Given the description of an element on the screen output the (x, y) to click on. 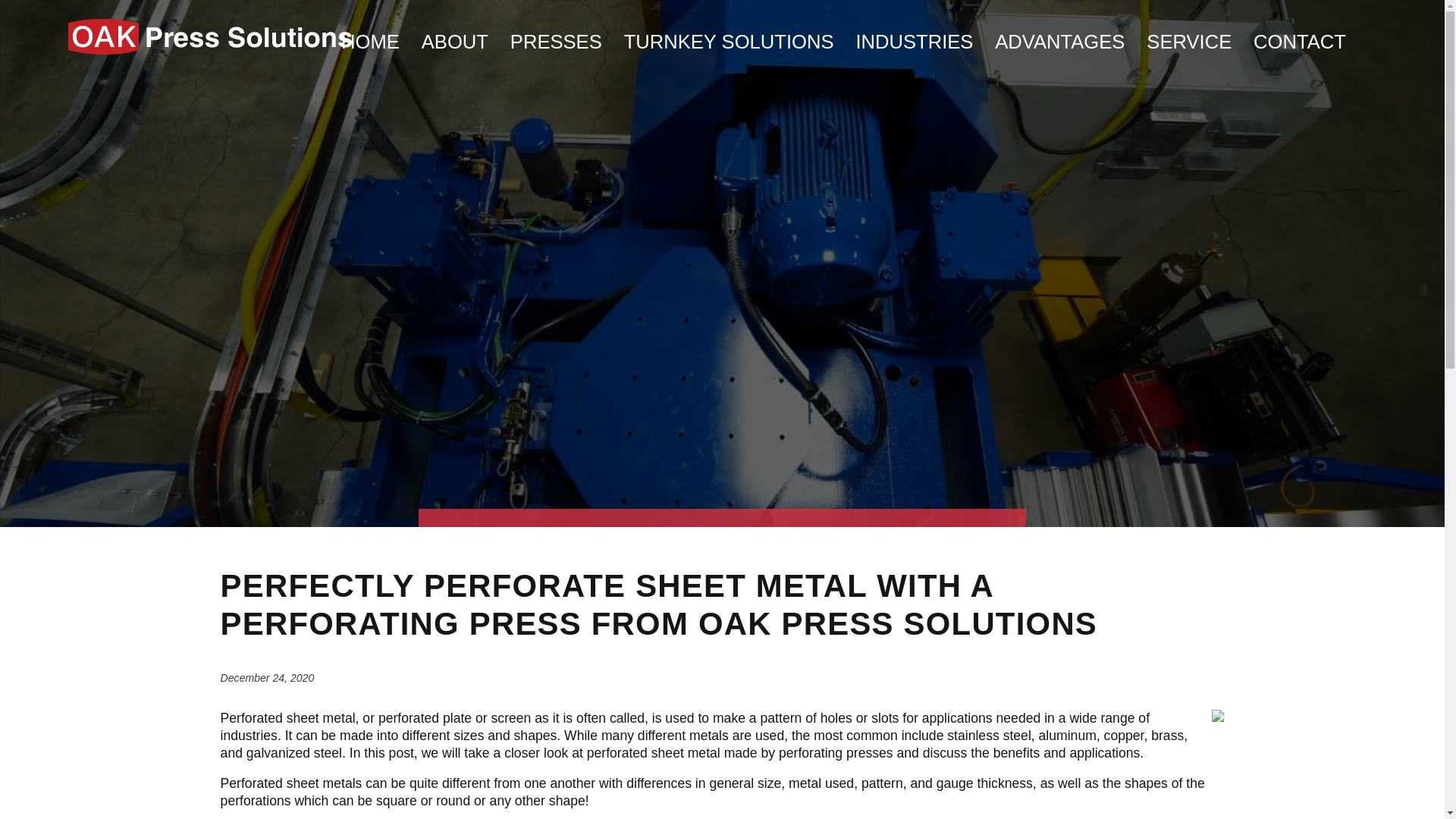
CONTACT (1299, 38)
TURNKEY SOLUTIONS (729, 38)
ABOUT (454, 38)
INDUSTRIES (914, 38)
PRESSES (556, 38)
OAK Press Solutions Inc. (209, 53)
SERVICE (1189, 38)
ADVANTAGES (1059, 38)
